Given the description of an element on the screen output the (x, y) to click on. 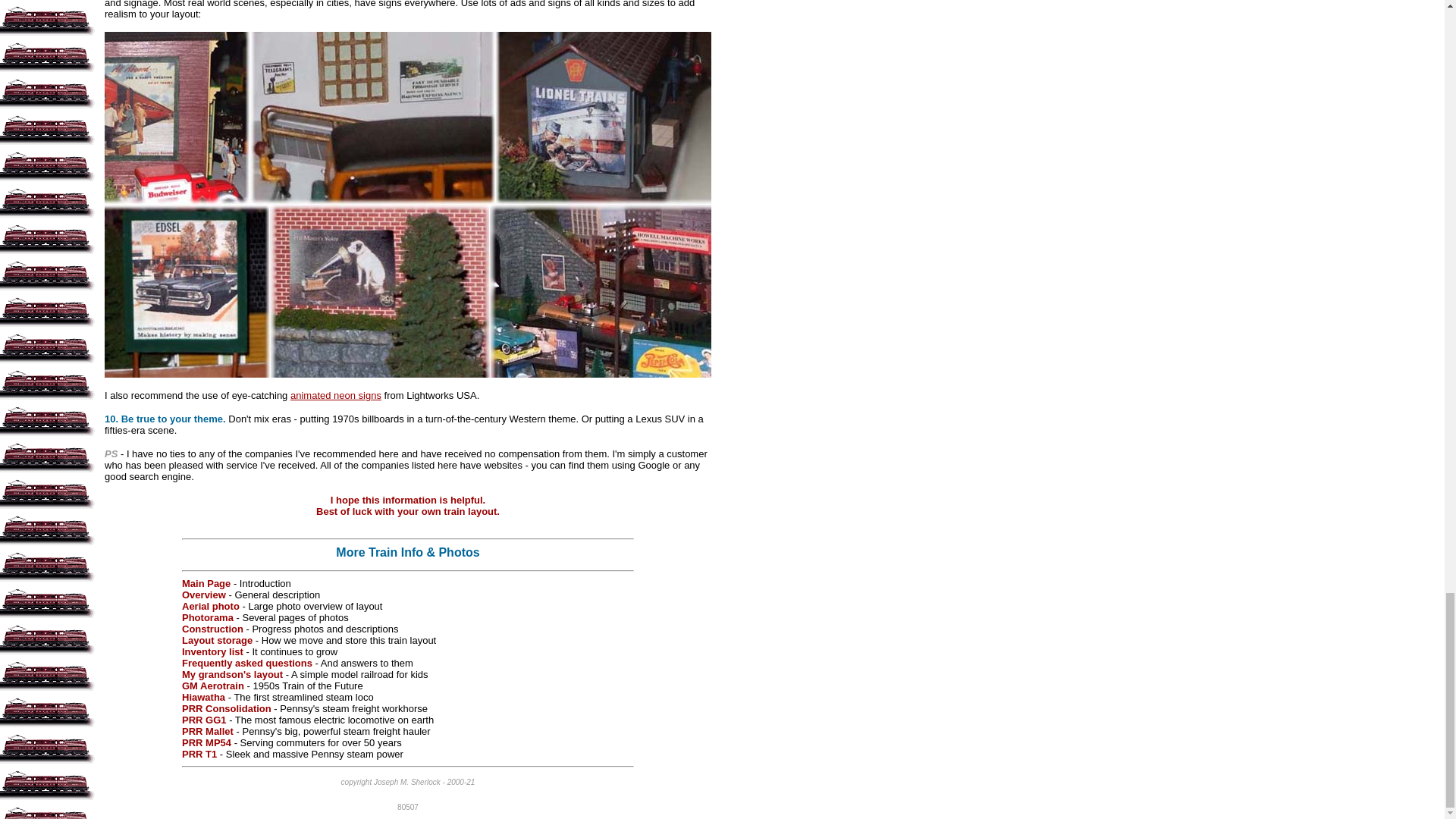
GM Aerotrain (213, 685)
Frequently asked questions (247, 663)
Main Page (206, 583)
Hiawatha (205, 696)
Photorama (207, 617)
PRR Consolidation (226, 708)
Inventory list (212, 651)
Layout storage (216, 640)
PRR T1 (199, 754)
My grandson's layout (232, 674)
PRR MP54 (206, 742)
Aerial photo (211, 605)
Construction (212, 628)
Overview (203, 594)
animated neon signs (335, 395)
